Given the description of an element on the screen output the (x, y) to click on. 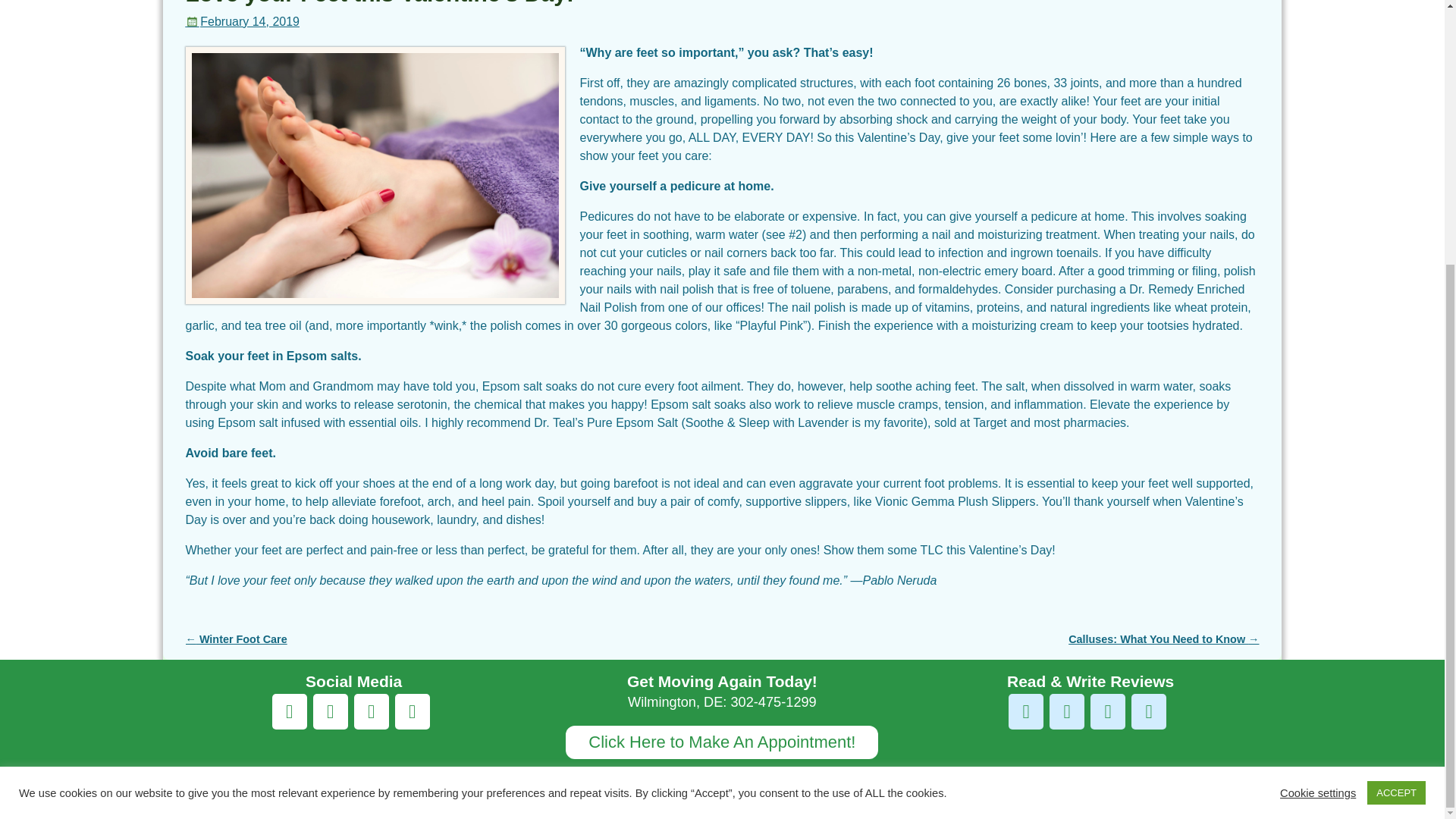
Click Here to Make An Appointment! (721, 742)
Yelp (1066, 711)
February 14, 2019 (241, 21)
Facebook (1148, 711)
Facebook (289, 711)
Instagram (370, 711)
Facebook (1026, 711)
Tristate Foot and Ankle Center (283, 787)
Tristate Foot and Ankle Center (283, 787)
Privacy Policy (1219, 787)
Twitter (330, 711)
11:20 am (241, 21)
Facebook (411, 711)
